Given the description of an element on the screen output the (x, y) to click on. 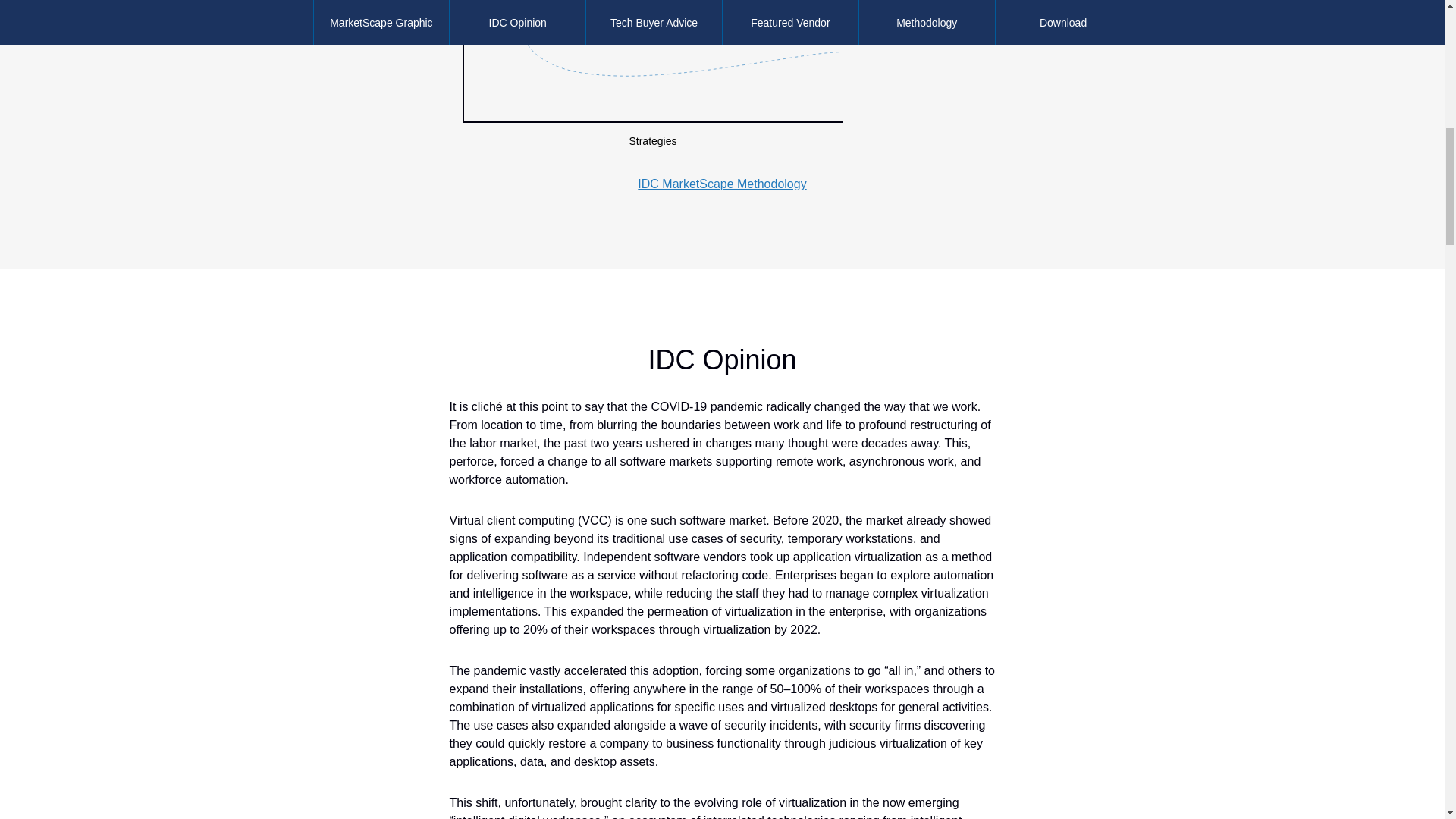
IDC MarketScape Methodology (721, 183)
